Given the description of an element on the screen output the (x, y) to click on. 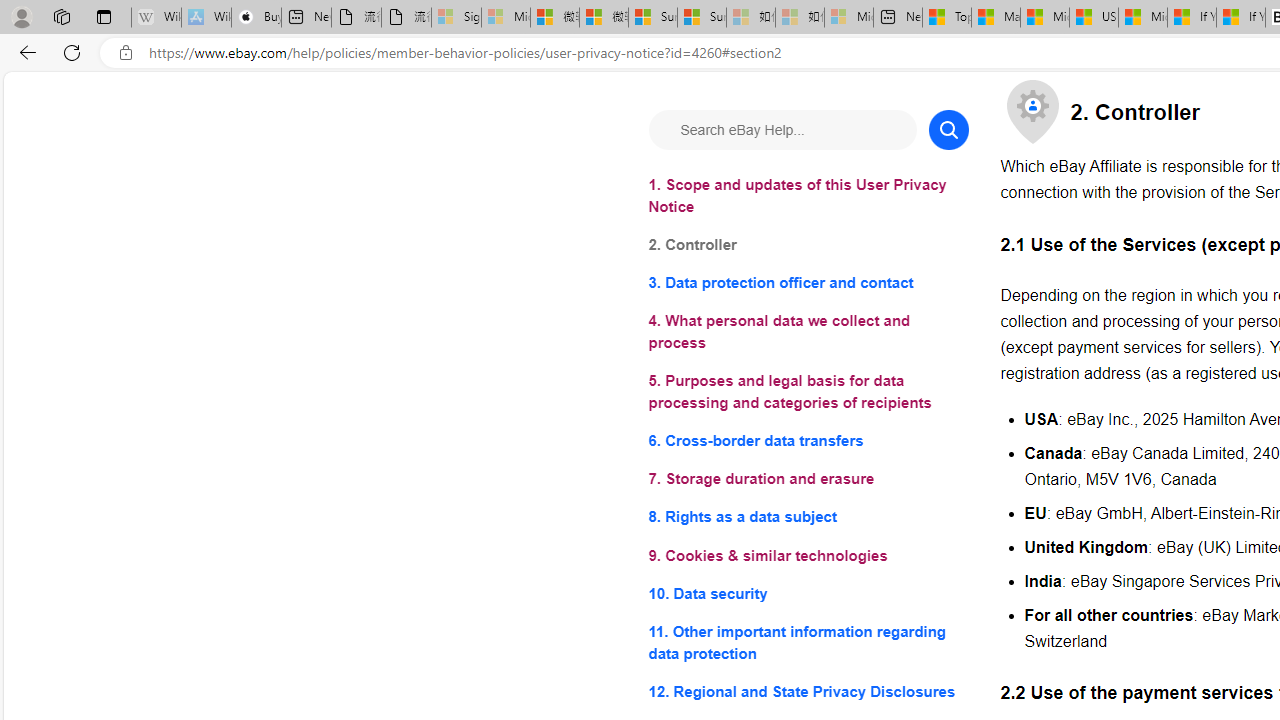
12. Regional and State Privacy Disclosures (807, 690)
Search eBay Help... (781, 129)
4. What personal data we collect and process (807, 332)
1. Scope and updates of this User Privacy Notice (807, 196)
Wikipedia - Sleeping (155, 17)
2. Controller (807, 245)
6. Cross-border data transfers (807, 440)
9. Cookies & similar technologies (807, 555)
11. Other important information regarding data protection (807, 642)
